Given the description of an element on the screen output the (x, y) to click on. 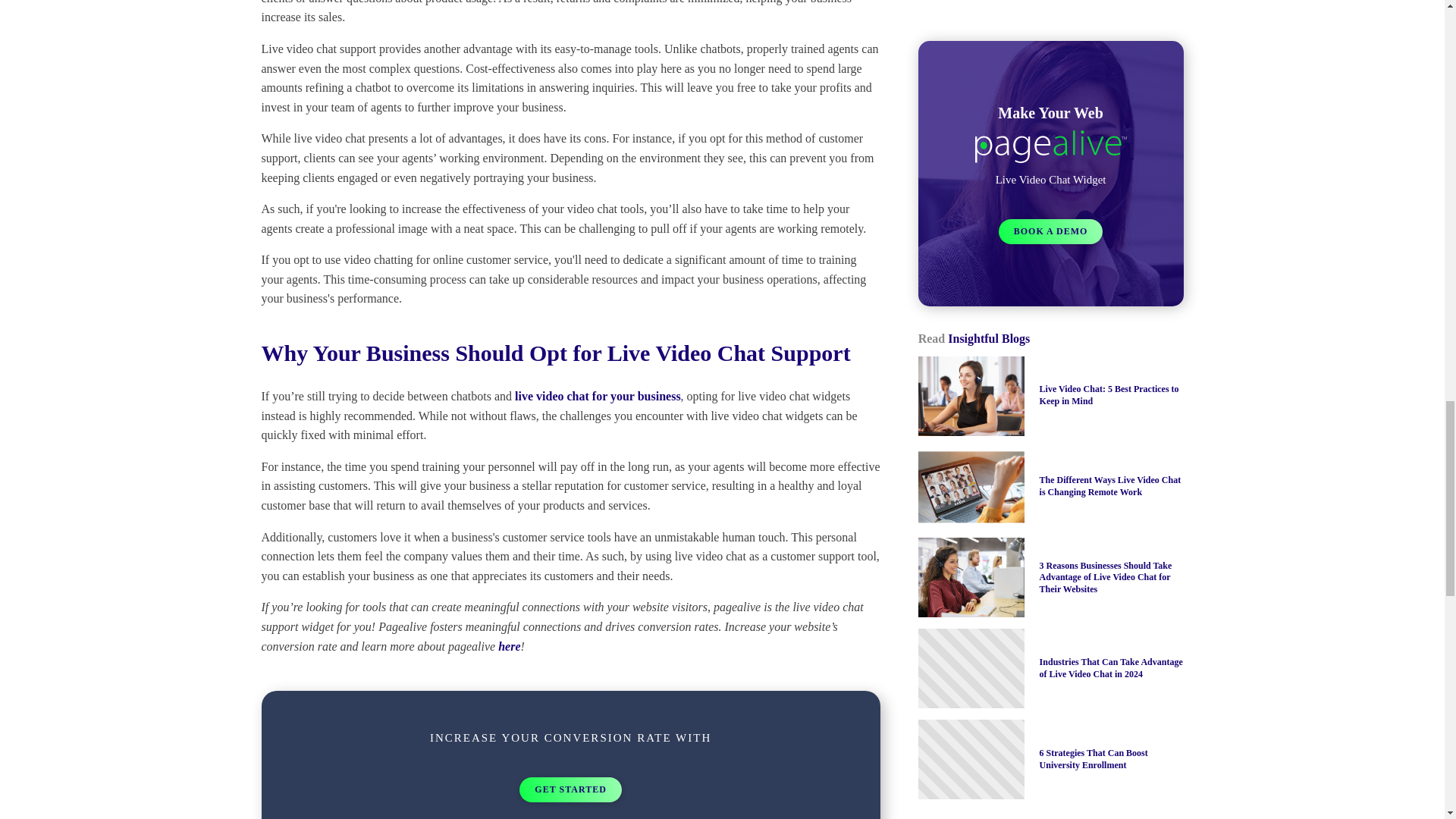
live video chat for your business (598, 395)
GET STARTED (570, 789)
here (508, 645)
